Given the description of an element on the screen output the (x, y) to click on. 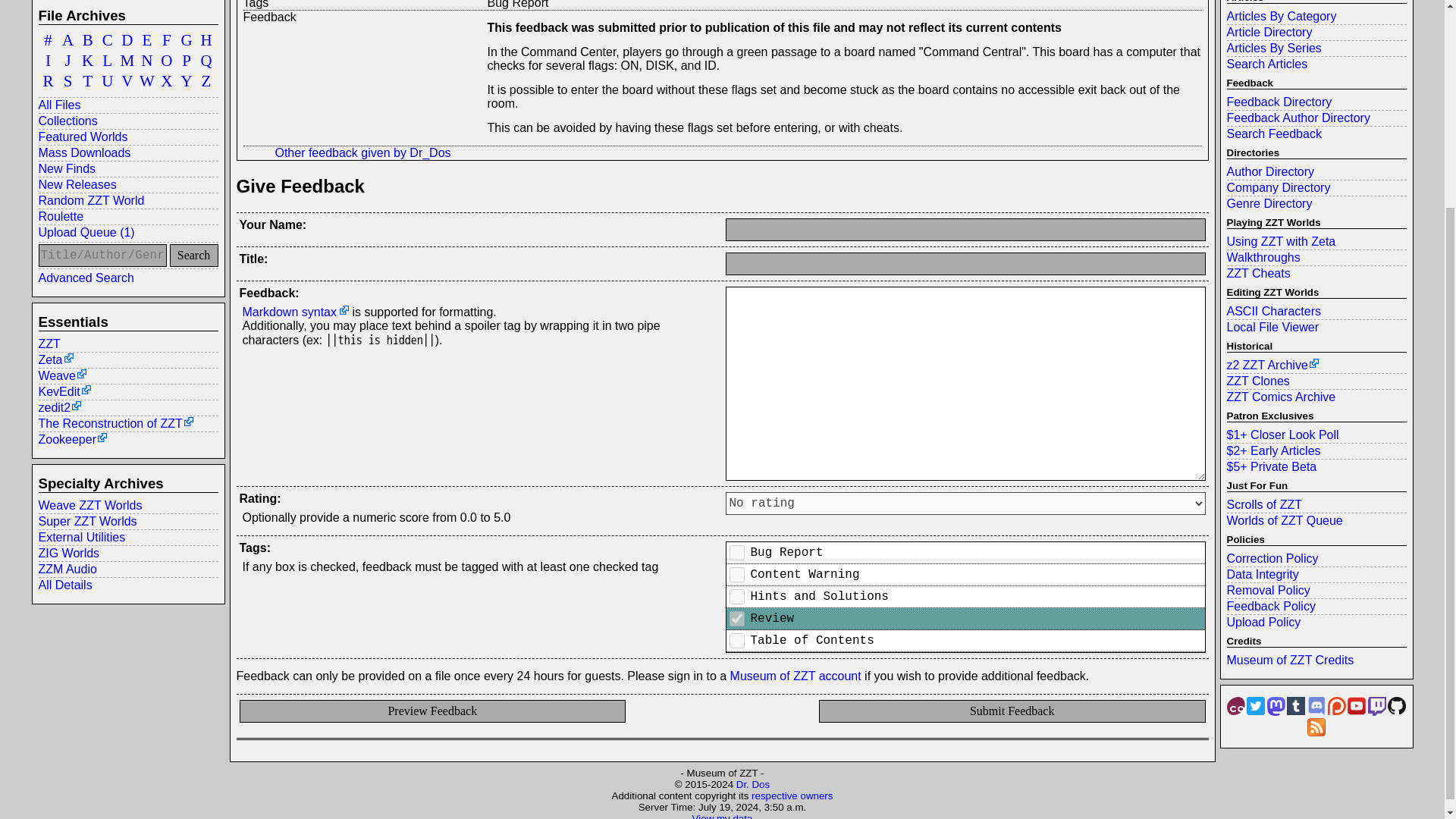
Search (194, 255)
B (87, 40)
S (68, 81)
Worlds of ZZT Discord (1315, 705)
2 (736, 574)
D (126, 40)
YouTube (1356, 705)
X (166, 81)
Roulette (126, 216)
Z (205, 81)
C (107, 40)
N (146, 60)
R (47, 81)
Twitter (1255, 705)
O (166, 60)
